Given the description of an element on the screen output the (x, y) to click on. 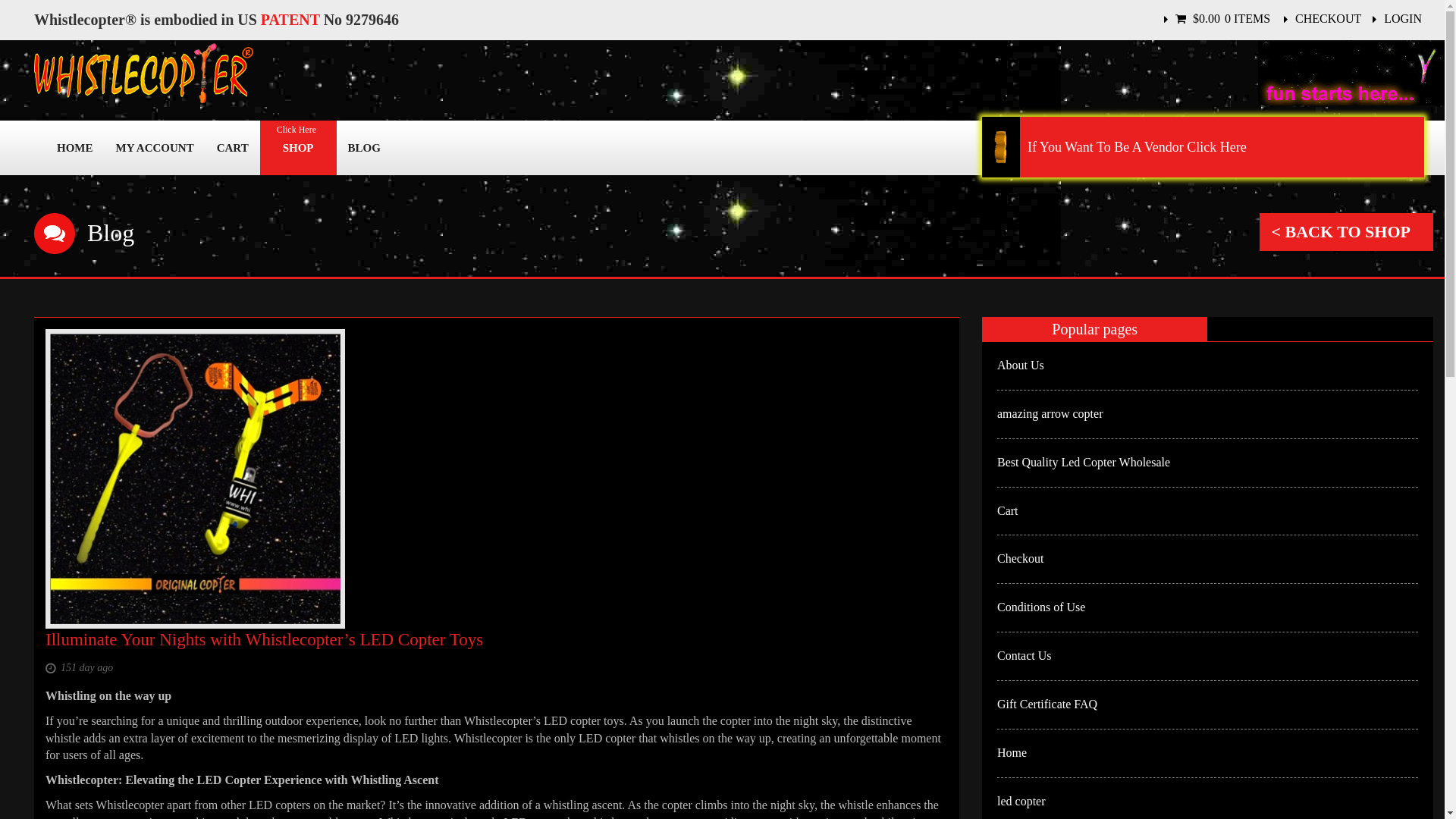
About Us (1020, 364)
Home (1011, 752)
MY ACCOUNT (154, 147)
View your shopping cart (1229, 18)
HOME (74, 147)
Checkout (1020, 558)
led copter (1021, 800)
SHOP (297, 147)
CHECKOUT (1328, 18)
Best Quality Led Copter Wholesale (1083, 461)
amazing arrow copter (1049, 413)
Conditions of Use (1040, 606)
  If You Want To Be A Vendor Click Here (1202, 147)
Gift Certificate FAQ (1047, 703)
LOGIN (1402, 18)
